Given the description of an element on the screen output the (x, y) to click on. 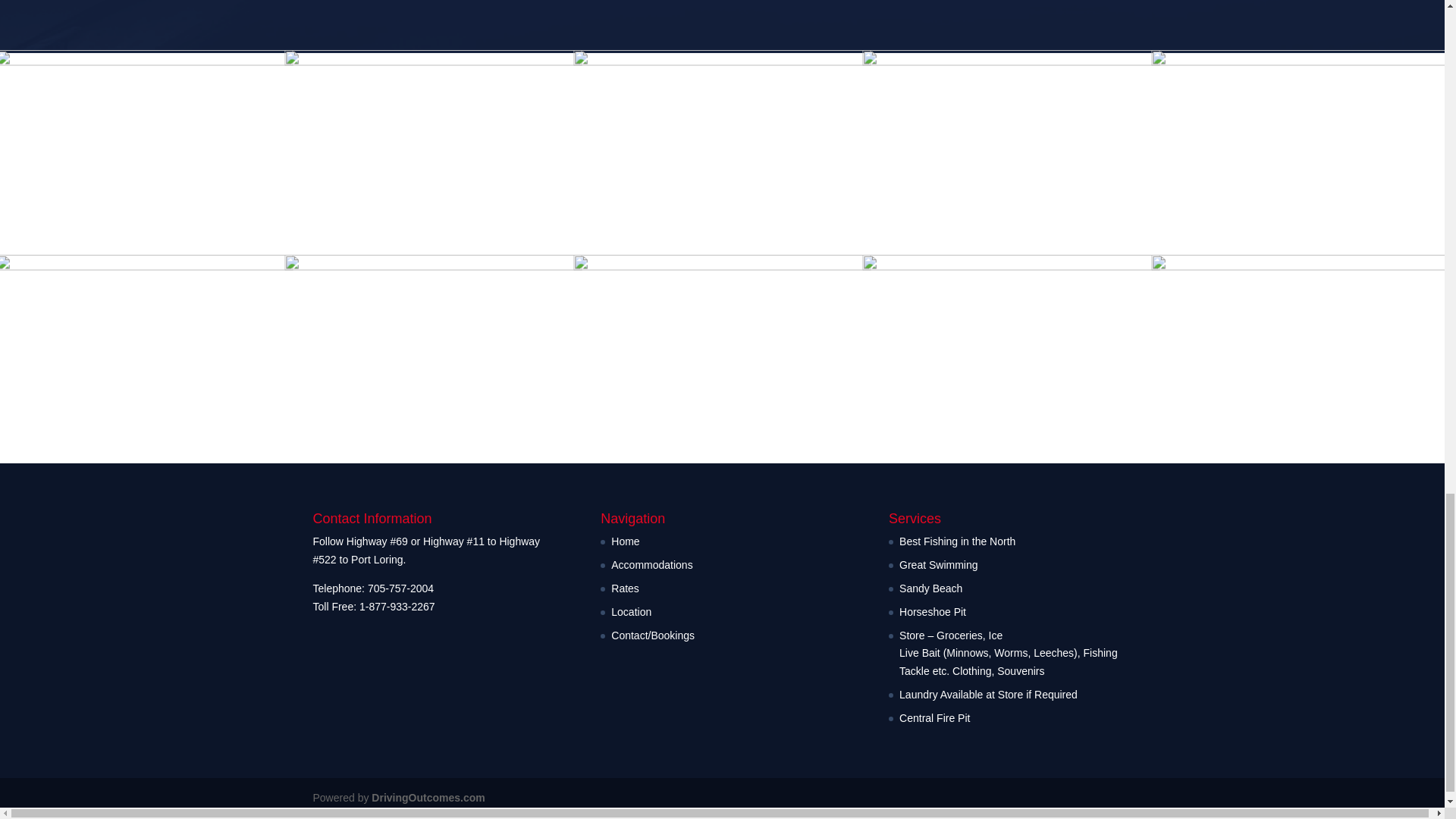
winter-snowshoe101 (722, 268)
swimming-1 (433, 268)
Main-Dock-1-1024x768 (1011, 268)
canoeing-3 (144, 64)
kids-1-900x480 (722, 64)
jet-ski-2 (1011, 64)
tubing-3 (144, 268)
